Given the description of an element on the screen output the (x, y) to click on. 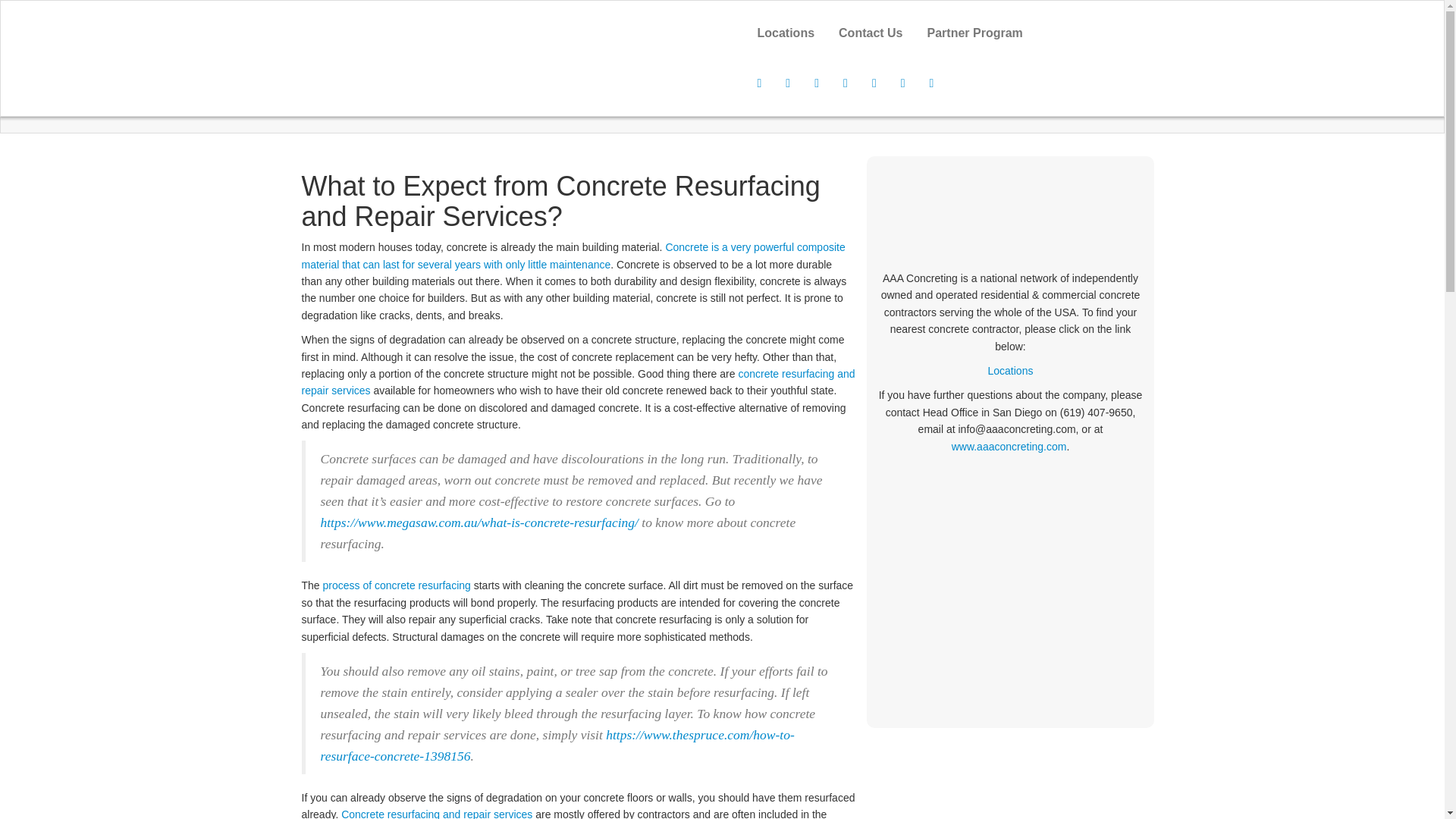
Contact Us (870, 33)
Locations (785, 33)
Locations (1010, 370)
Concrete resurfacing and repair services (436, 813)
Partner Program (975, 33)
www.aaaconcreting.com (1009, 446)
Partner Program (975, 33)
Contact Us (870, 33)
process of concrete resurfacing (396, 585)
